Given the description of an element on the screen output the (x, y) to click on. 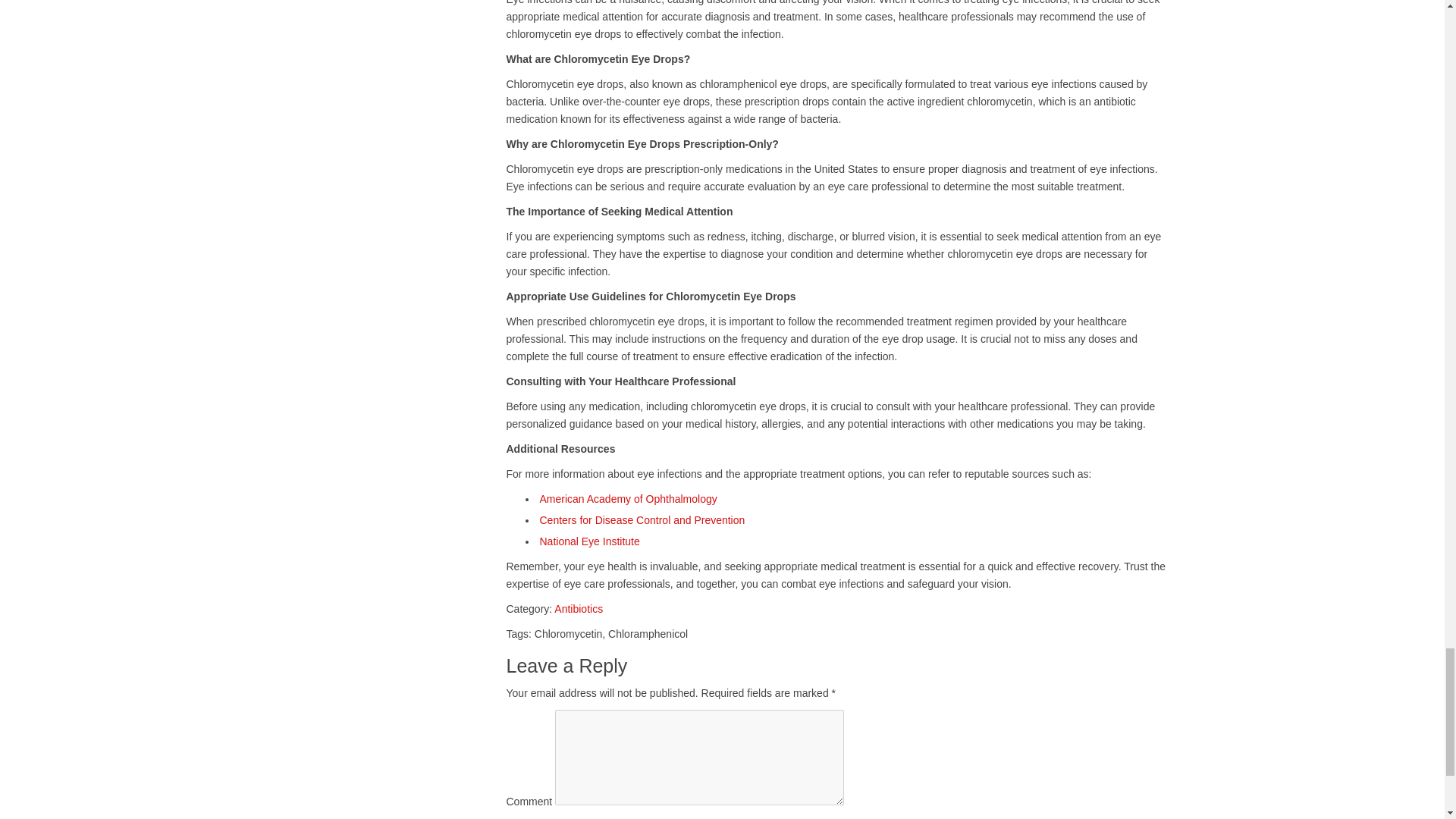
American Academy of Ophthalmology (628, 499)
